Given the description of an element on the screen output the (x, y) to click on. 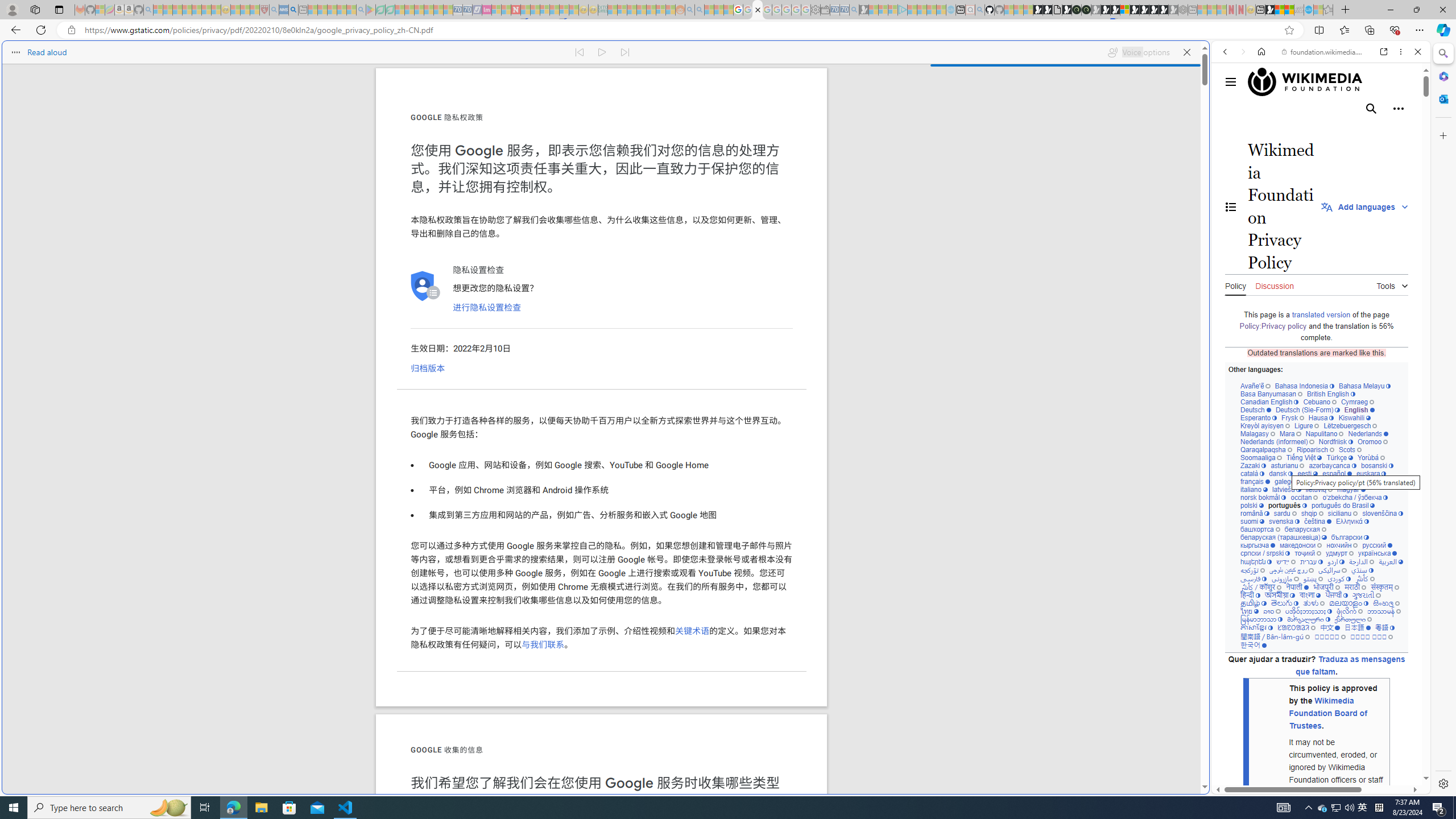
Napulitano (1323, 433)
Microsoft account | Privacy - Sleeping (892, 9)
dansk (1280, 473)
New tab - Sleeping (1192, 9)
